Given the description of an element on the screen output the (x, y) to click on. 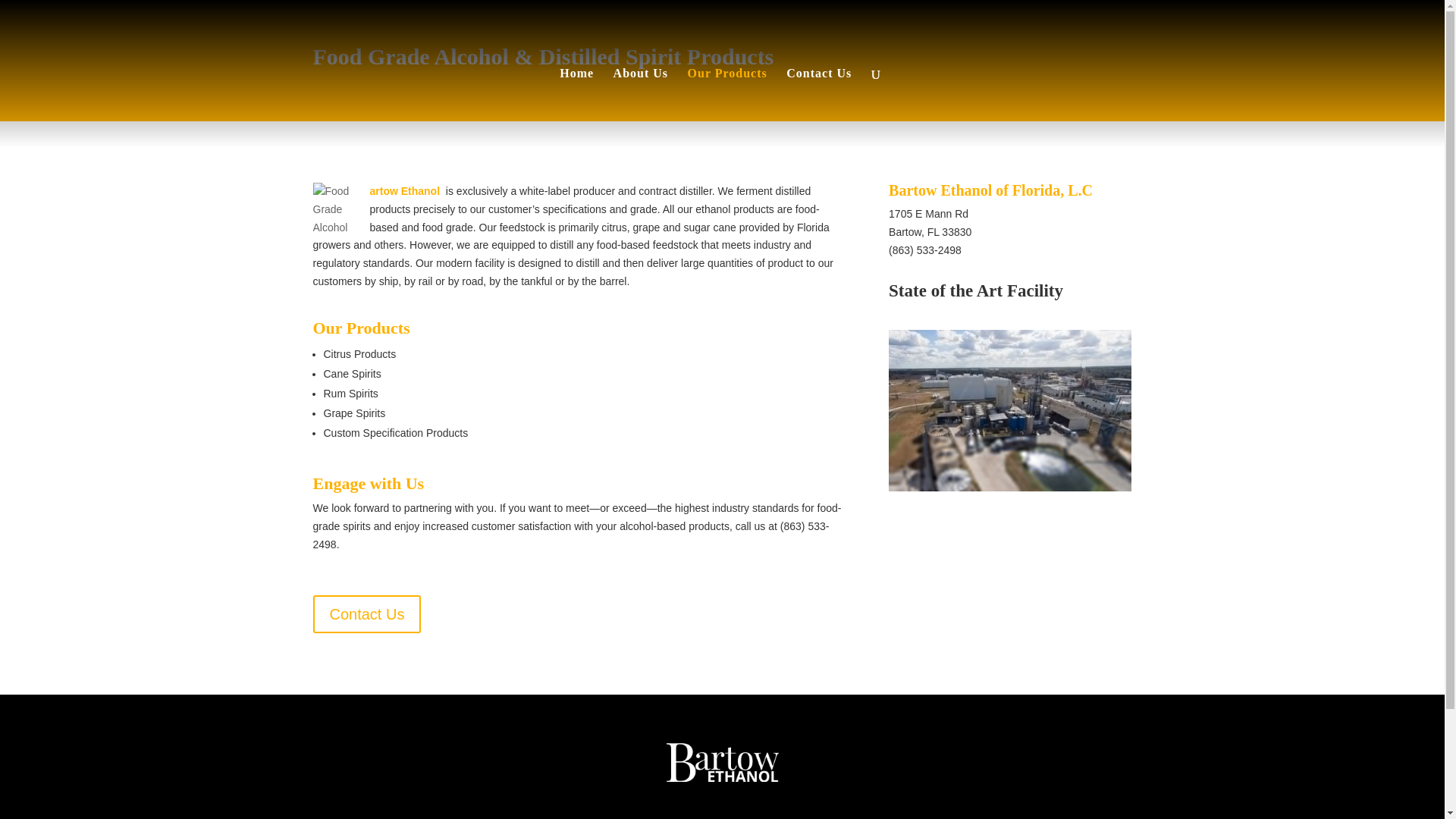
Our Products (727, 107)
bartow-gallery8-800-533 (1009, 487)
Contact Us (366, 614)
